Given the description of an element on the screen output the (x, y) to click on. 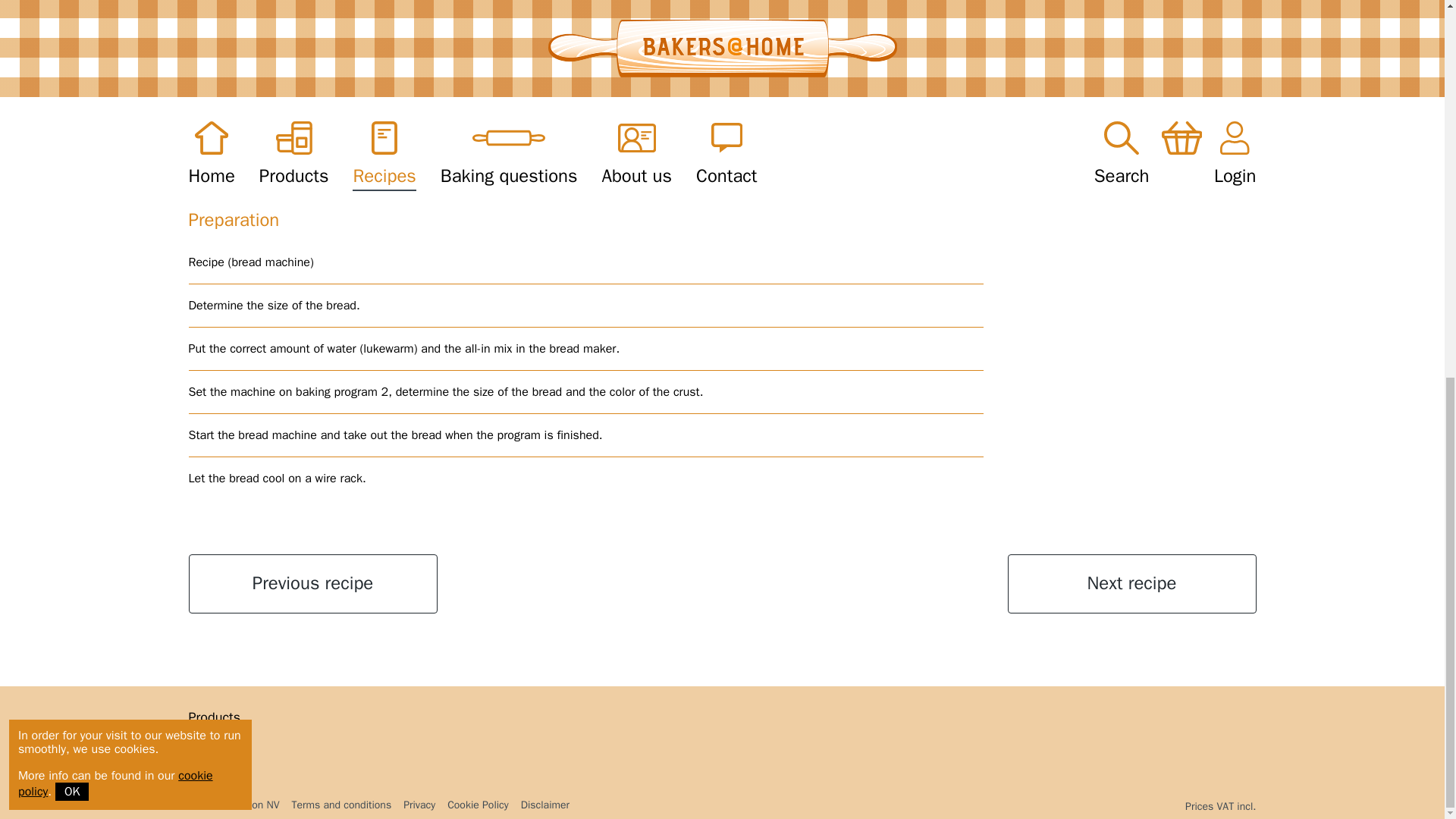
cookie policy (114, 86)
Next recipe (1131, 583)
Disclaimer (545, 804)
Previous recipe (311, 583)
Cookie Policy (477, 804)
OK (71, 94)
Products (213, 718)
Privacy (419, 804)
Contact (213, 751)
Terms and conditions (341, 804)
About us (213, 735)
